Given the description of an element on the screen output the (x, y) to click on. 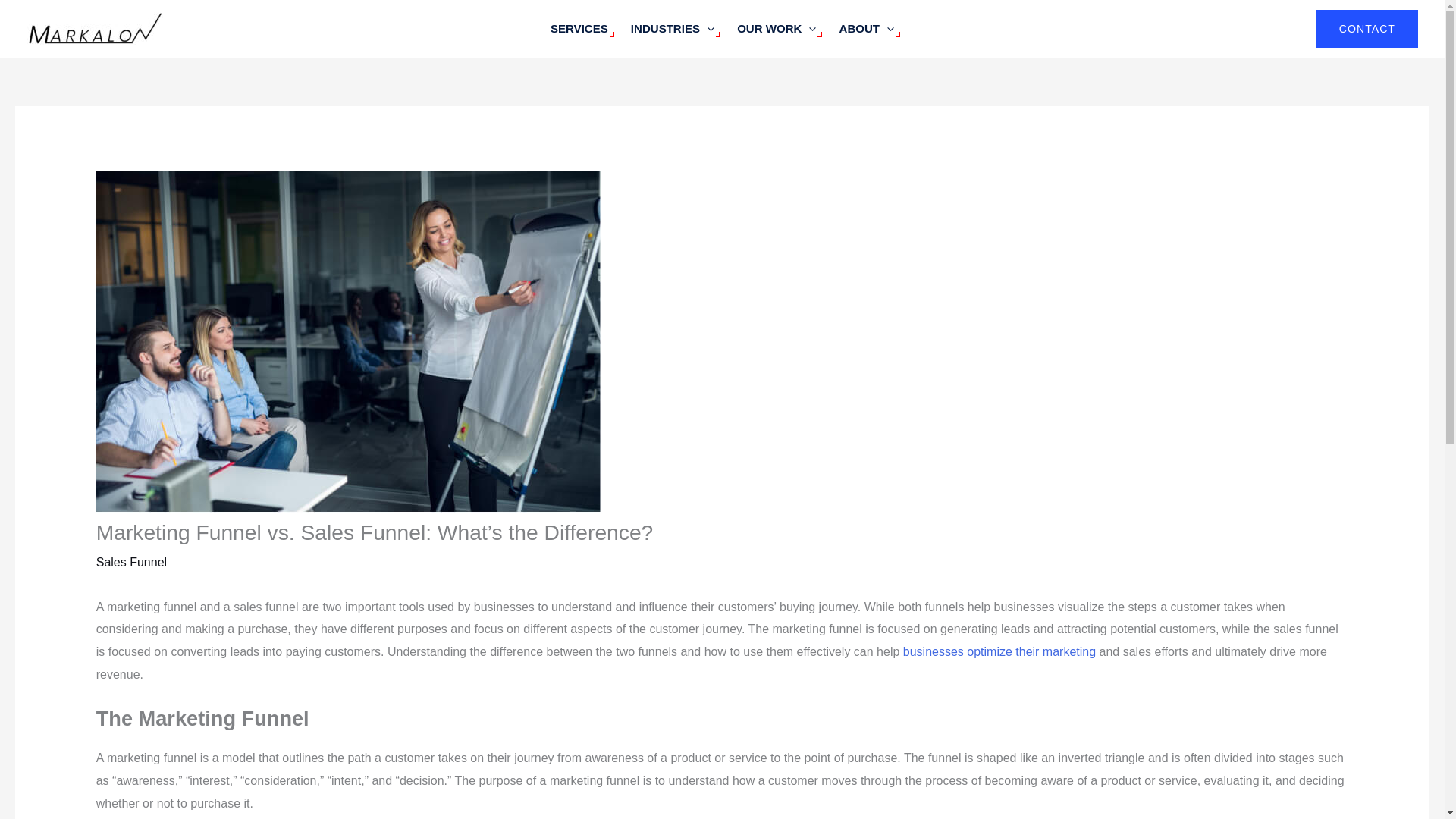
Sales Funnel (131, 562)
OUR WORK (776, 28)
SERVICES (579, 28)
businesses optimize their marketing (999, 651)
INDUSTRIES (672, 28)
CONTACT (1367, 28)
ABOUT (866, 28)
